Given the description of an element on the screen output the (x, y) to click on. 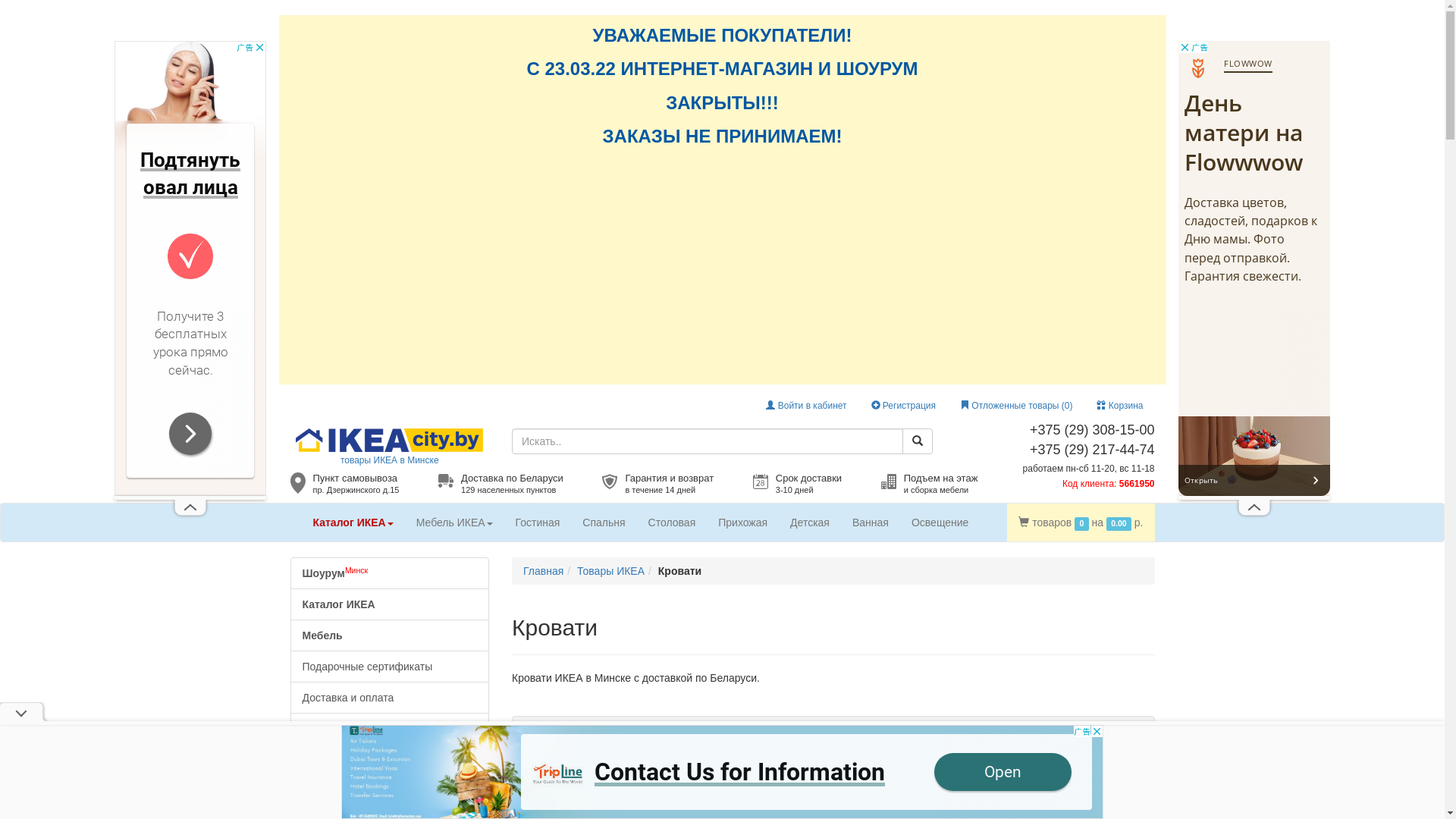
Advertisement Element type: hover (1254, 267)
Advertisement Element type: hover (190, 267)
Advertisement Element type: hover (722, 262)
